Given the description of an element on the screen output the (x, y) to click on. 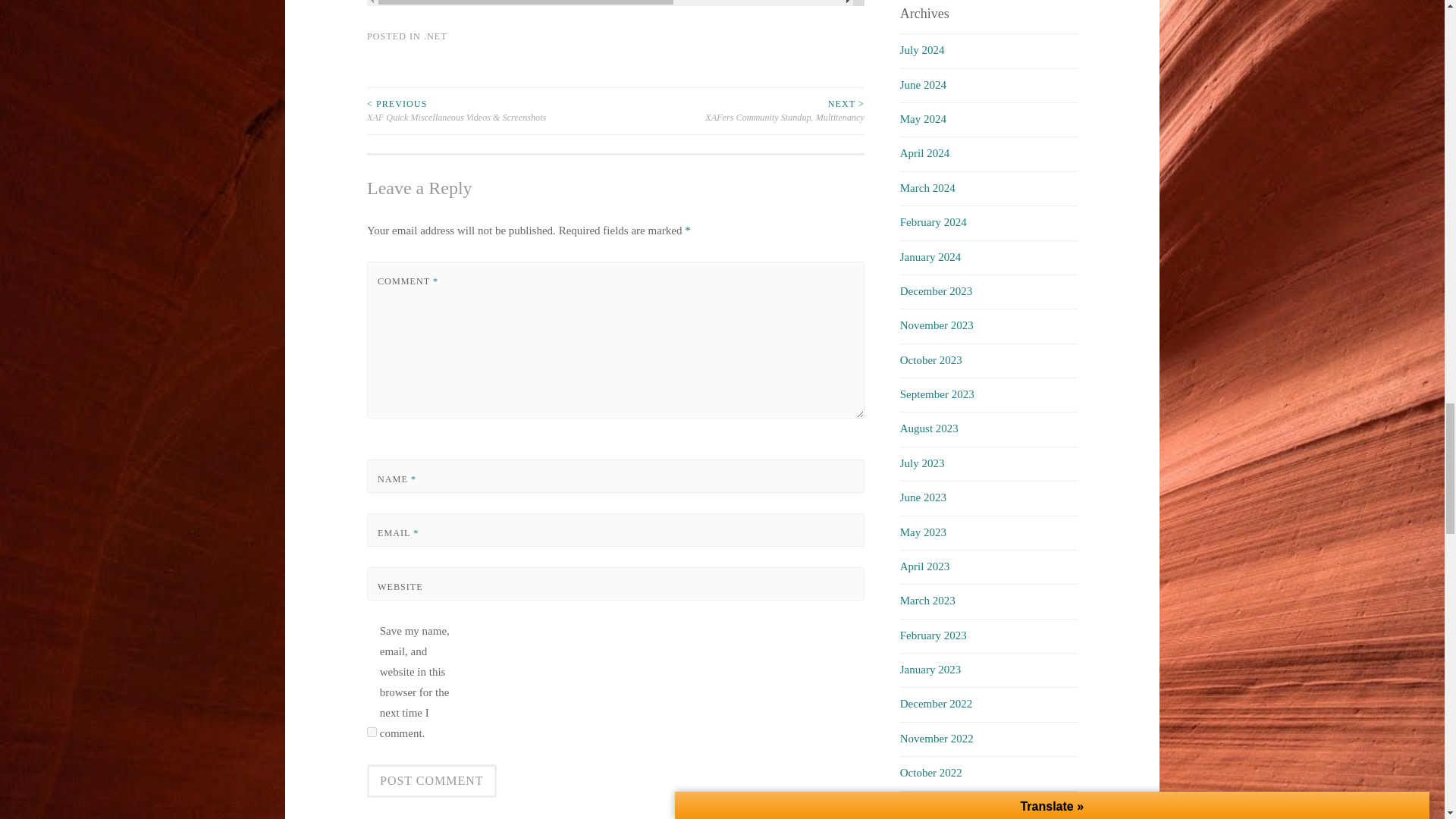
Post Comment (431, 780)
yes (371, 732)
Post Comment (431, 780)
June 2024 (922, 84)
July 2024 (921, 50)
.NET (434, 36)
